Given the description of an element on the screen output the (x, y) to click on. 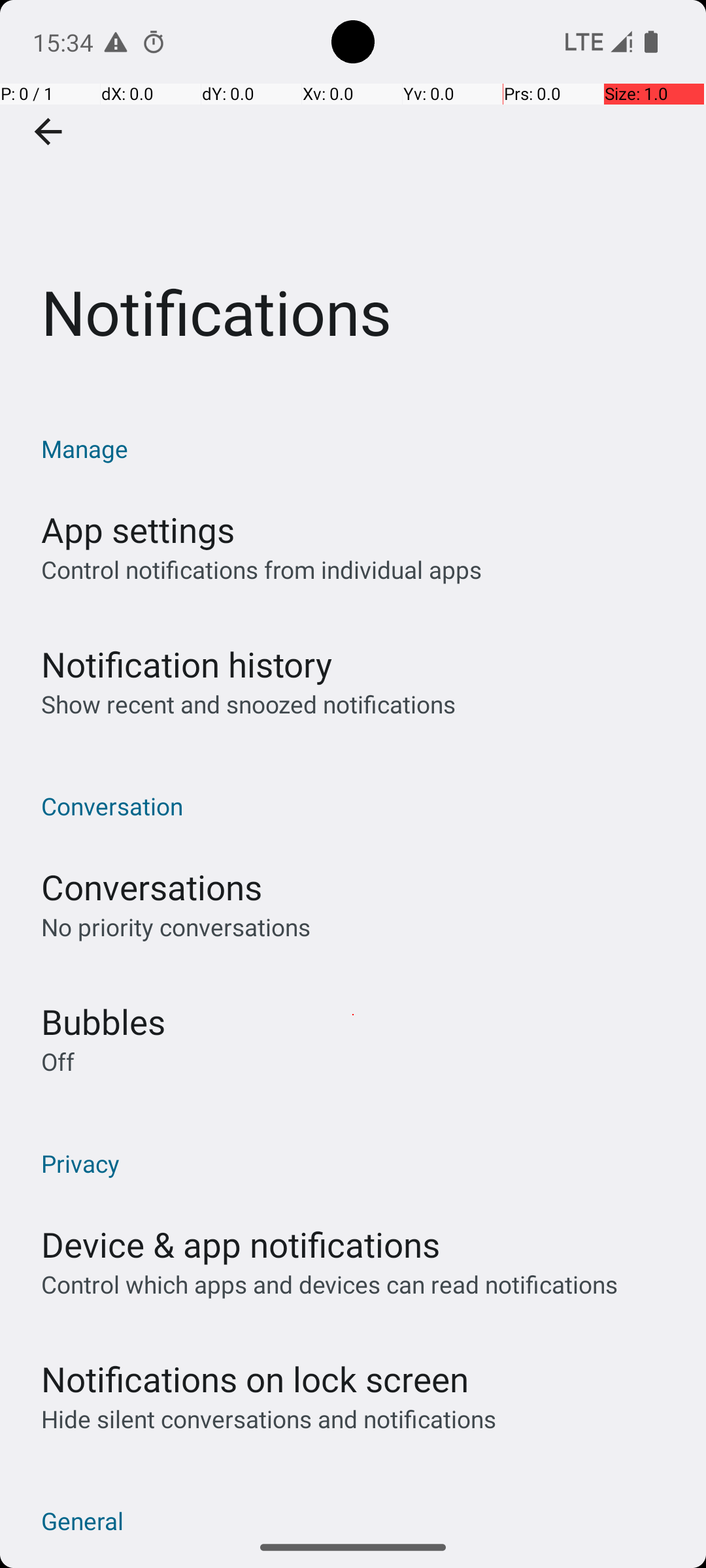
Manage Element type: android.widget.TextView (359, 448)
App settings Element type: android.widget.TextView (137, 529)
Control notifications from individual apps Element type: android.widget.TextView (261, 569)
Notification history Element type: android.widget.TextView (186, 663)
Show recent and snoozed notifications Element type: android.widget.TextView (248, 703)
Conversation Element type: android.widget.TextView (359, 805)
Conversations Element type: android.widget.TextView (151, 886)
No priority conversations Element type: android.widget.TextView (175, 926)
Bubbles Element type: android.widget.TextView (103, 1021)
Privacy Element type: android.widget.TextView (359, 1162)
Device & app notifications Element type: android.widget.TextView (240, 1244)
Control which apps and devices can read notifications Element type: android.widget.TextView (329, 1283)
Notifications on lock screen Element type: android.widget.TextView (254, 1378)
Hide silent conversations and notifications Element type: android.widget.TextView (268, 1418)
